Given the description of an element on the screen output the (x, y) to click on. 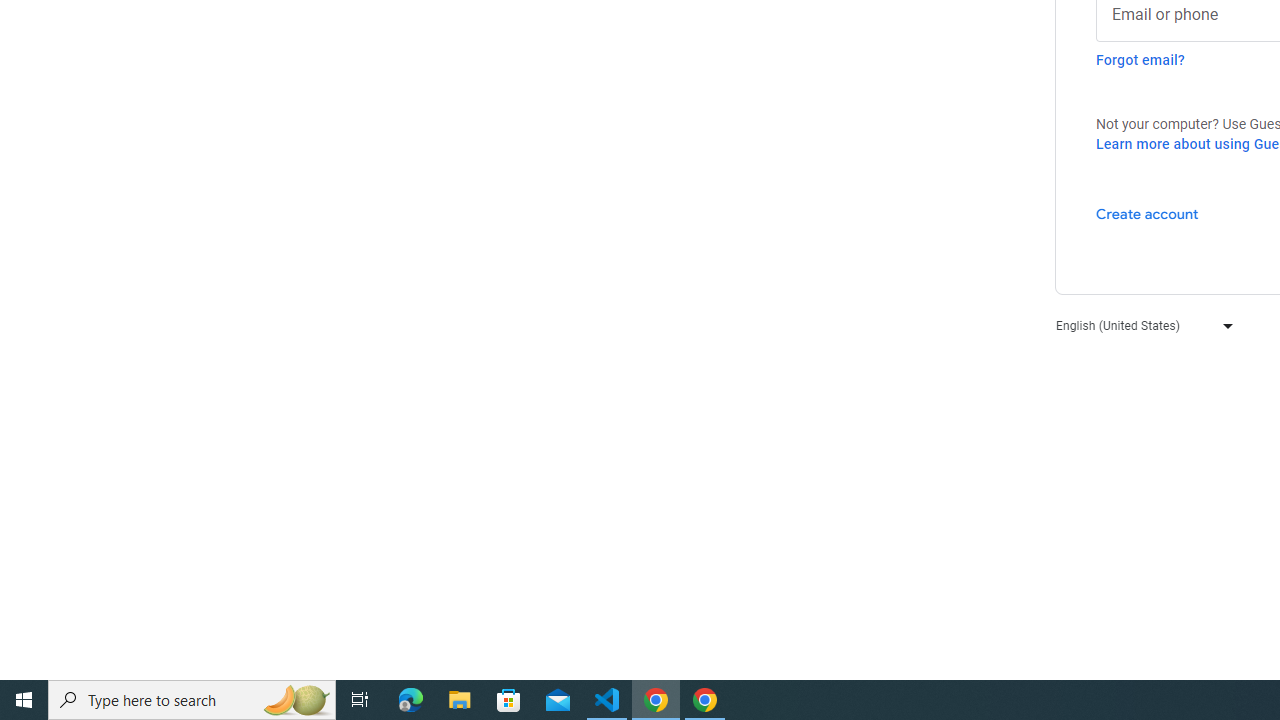
Create account (1146, 213)
English (United States) (1139, 324)
Forgot email? (1140, 59)
